Given the description of an element on the screen output the (x, y) to click on. 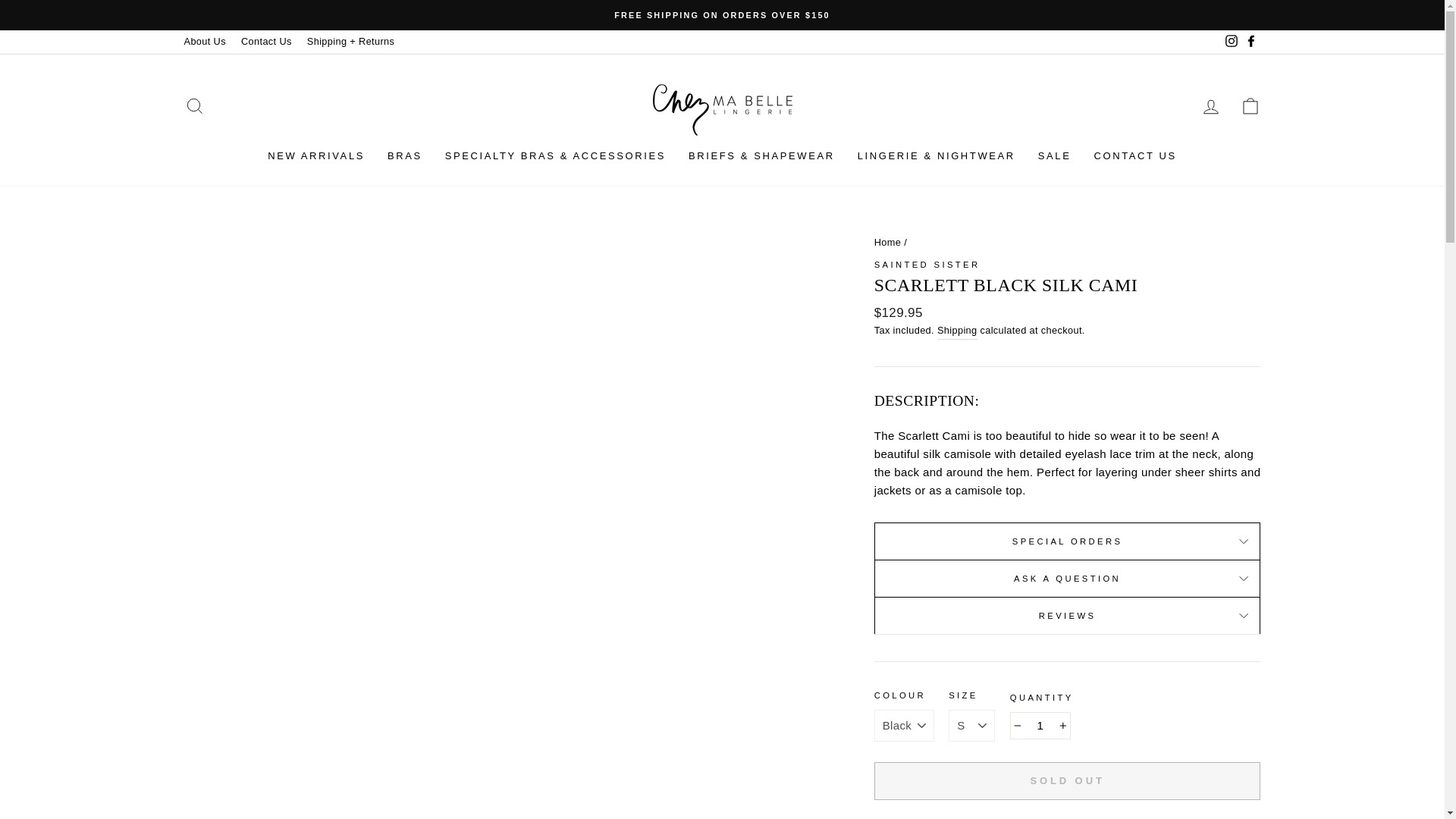
Back to the frontpage (888, 242)
1 (1040, 725)
